Given the description of an element on the screen output the (x, y) to click on. 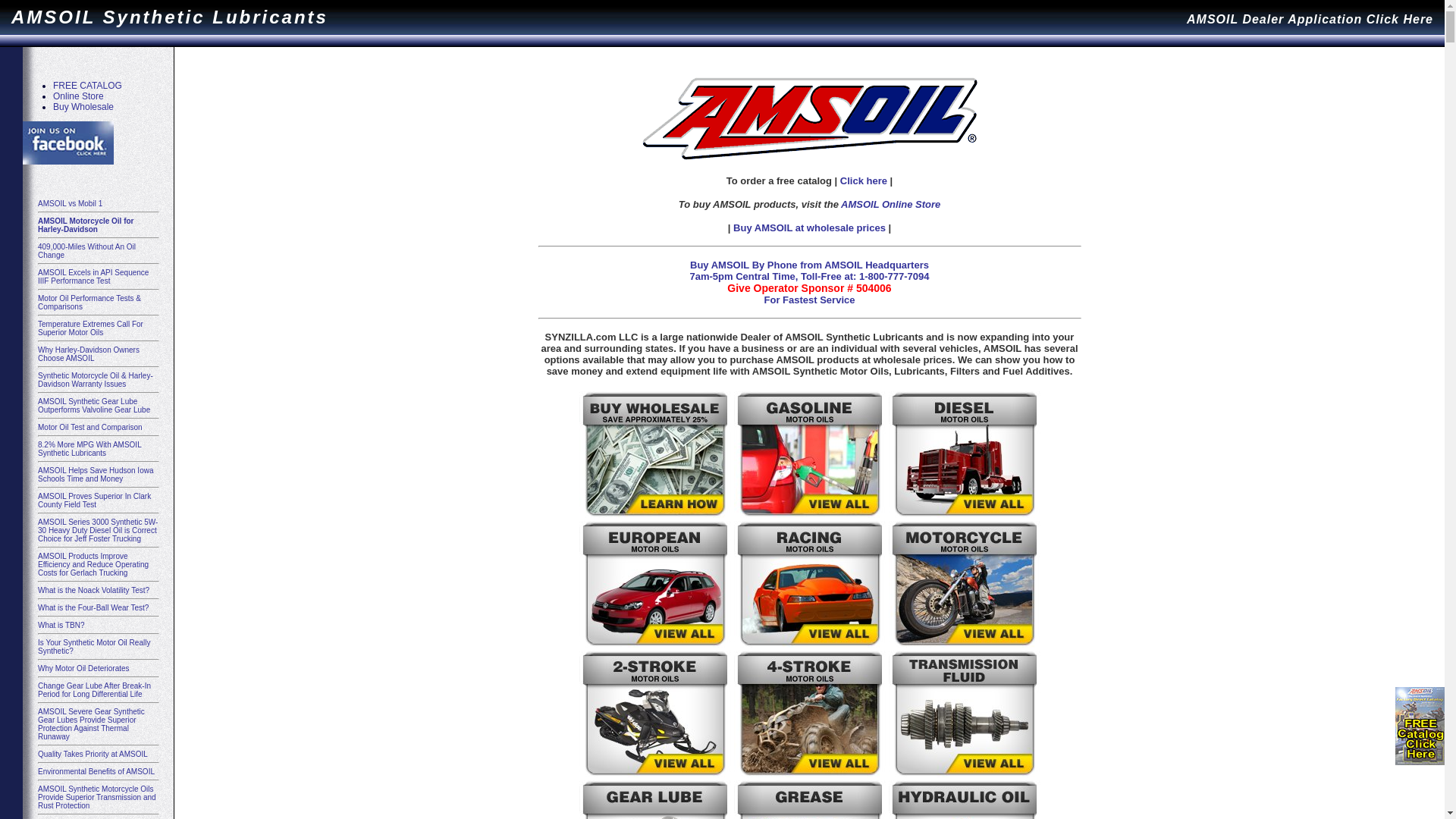
Buy AMSOIL at wholesale prices Element type: text (807, 227)
Online Store Element type: text (78, 96)
AMSOIL Online Store Element type: text (890, 204)
Why Harley-Davidson Owners Choose AMSOIL Element type: text (88, 353)
Click here Element type: text (863, 180)
Is Your Synthetic Motor Oil Really Synthetic? Element type: text (93, 646)
AMSOIL Synthetic Gear Lube Outperforms Valvoline Gear Lube Element type: text (93, 405)
Buy Wholesale Element type: text (83, 106)
Synthetic Motorcycle Oil & Harley-Davidson Warranty Issues Element type: text (95, 379)
AMSOIL Synthetic Lubricants Element type: text (169, 16)
Motor Oil Test and Comparison Element type: text (89, 427)
What is TBN? Element type: text (60, 625)
Quality Takes Priority at AMSOIL Element type: text (92, 753)
8.2% More MPG With AMSOIL Synthetic Lubricants Element type: text (89, 448)
Why Motor Oil Deteriorates Element type: text (83, 668)
Environmental Benefits of AMSOIL Element type: text (95, 771)
FREE CATALOG Element type: text (87, 85)
AMSOIL vs Mobil 1 Element type: text (69, 203)
AMSOIL Excels in API Sequence IIIF Performance Test Element type: text (92, 276)
Temperature Extremes Call For Superior Motor Oils Element type: text (90, 328)
AMSOIL Helps Save Hudson Iowa Schools Time and Money Element type: text (95, 474)
AMSOIL Dealer Application Click Here Element type: text (1309, 16)
What is the Four-Ball Wear Test? Element type: text (92, 607)
409,000-Miles Without An Oil Change Element type: text (86, 250)
What is the Noack Volatility Test? Element type: text (93, 590)
AMSOIL Motorcycle Oil for Harley-Davidson Element type: text (85, 224)
For Fastest Service Element type: text (809, 299)
Motor Oil Performance Tests & Comparisons Element type: text (89, 302)
AMSOIL Proves Superior In Clark County Field Test Element type: text (93, 500)
